Given the description of an element on the screen output the (x, y) to click on. 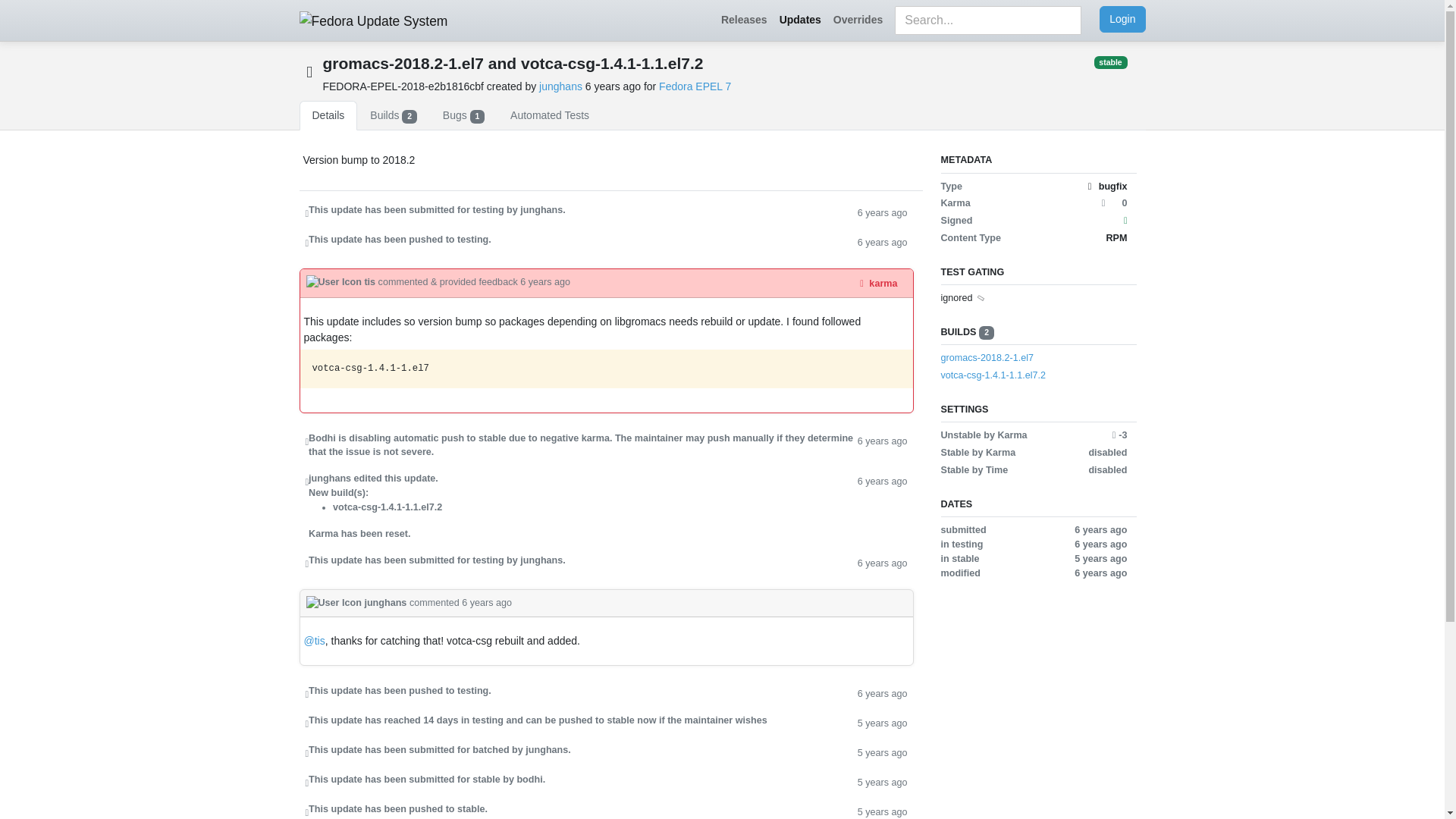
Details (327, 115)
votca-csg-1.4.1-1.1.el7.2 (1033, 375)
The update will be marked as unstable when karma reaches -3  (1119, 434)
tis (341, 281)
This is a bugfix update (308, 71)
5 years ago (882, 810)
6 years ago (882, 445)
6 years ago (486, 602)
Fedora EPEL 7 (694, 86)
6 years ago (544, 281)
gromacs-2018.2-1.el7 (1033, 358)
gromacs-2018.2-1.el7 (986, 357)
5 years ago (882, 751)
junghans (560, 86)
2018-07-20 17:54:50.772190 UTC (614, 86)
